Given the description of an element on the screen output the (x, y) to click on. 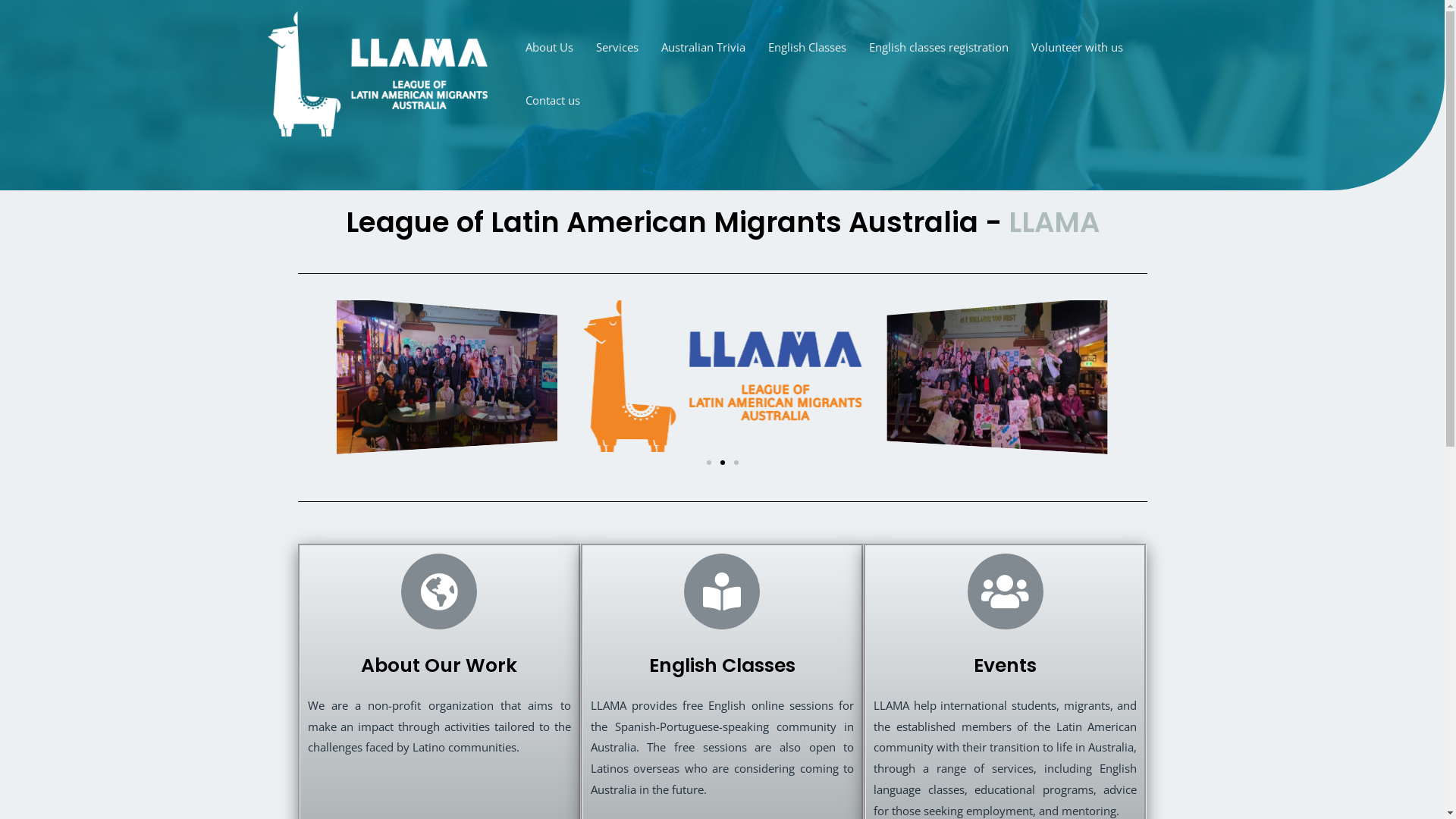
Services Element type: text (616, 46)
Volunteer with us Element type: text (1076, 46)
Contact us Element type: text (552, 99)
About Us Element type: text (549, 46)
English classes registration Element type: text (937, 46)
Australian Trivia Element type: text (702, 46)
English Classes Element type: text (806, 46)
